Given the description of an element on the screen output the (x, y) to click on. 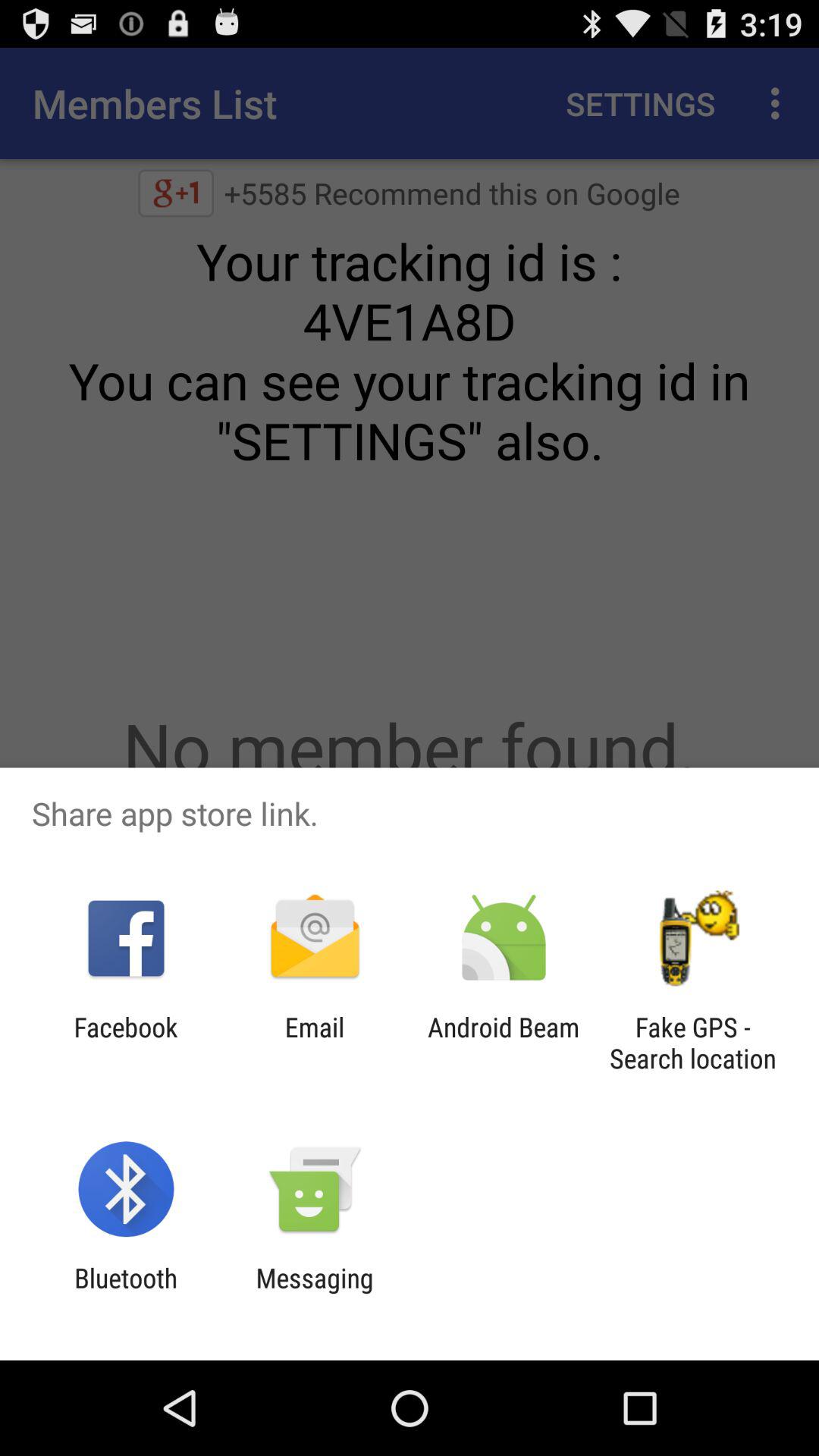
turn on the item to the right of the bluetooth app (314, 1293)
